Given the description of an element on the screen output the (x, y) to click on. 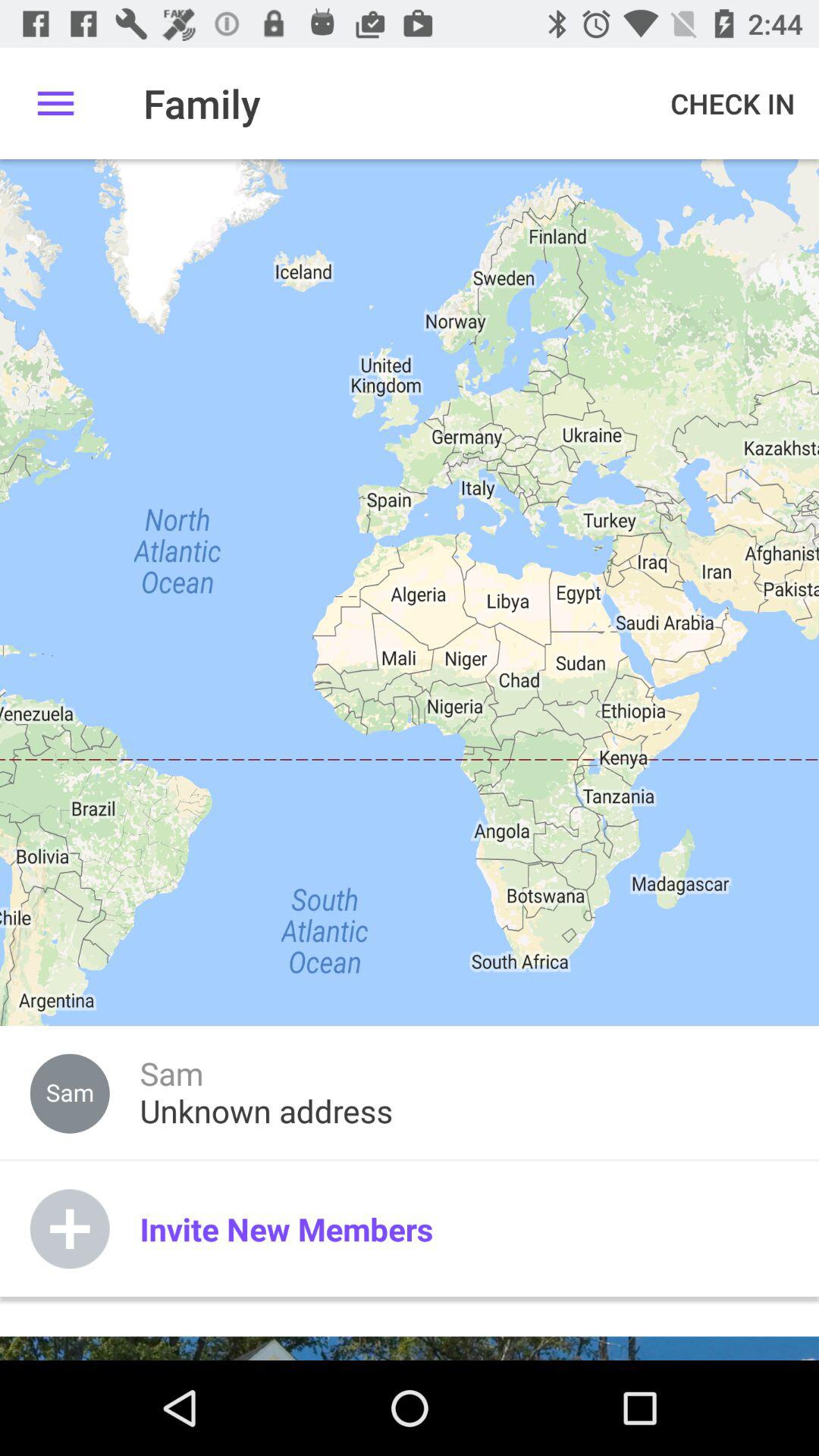
tap the check in at the top right corner (732, 103)
